Given the description of an element on the screen output the (x, y) to click on. 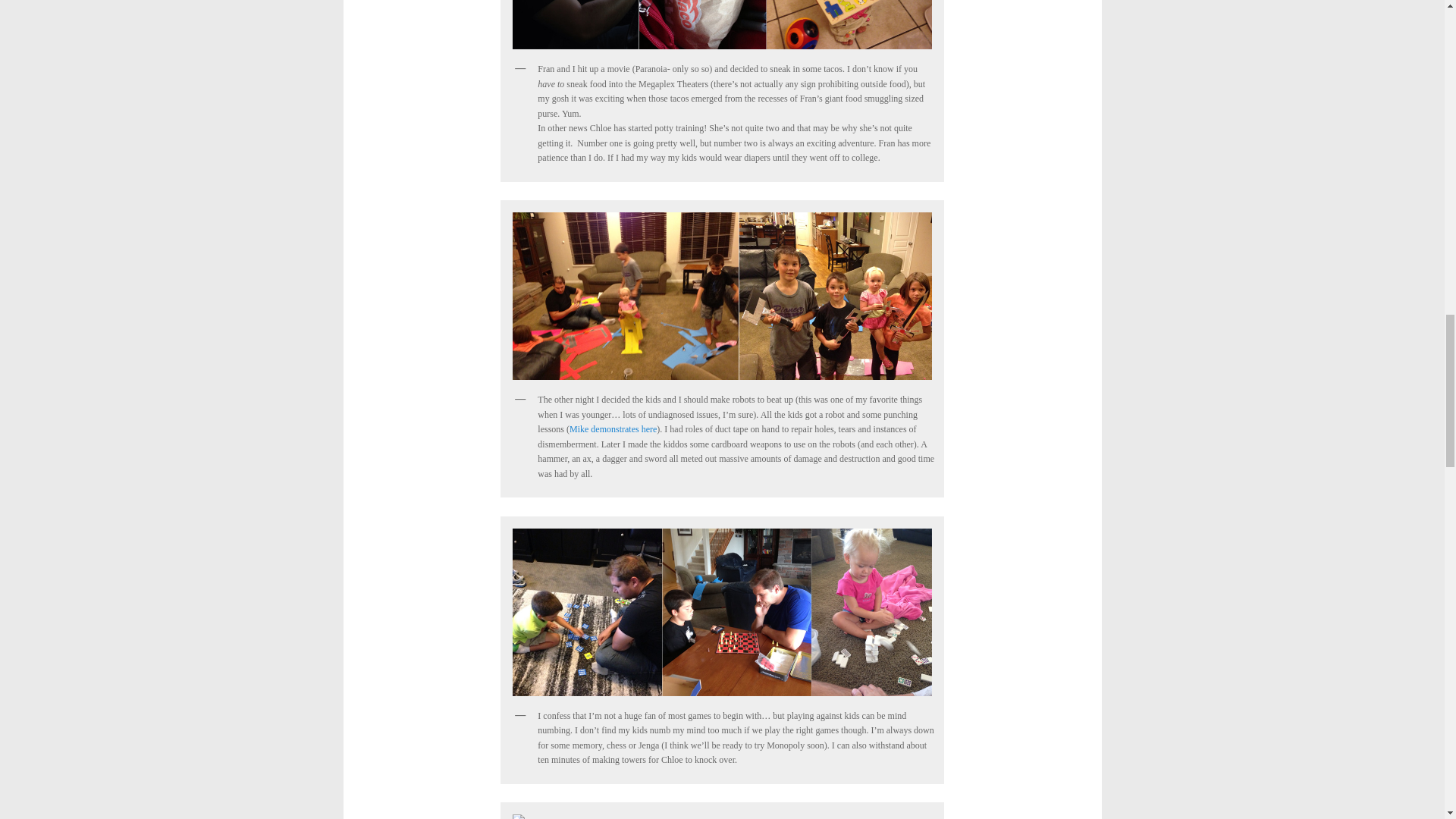
Mike demonstrates here (612, 429)
